Given the description of an element on the screen output the (x, y) to click on. 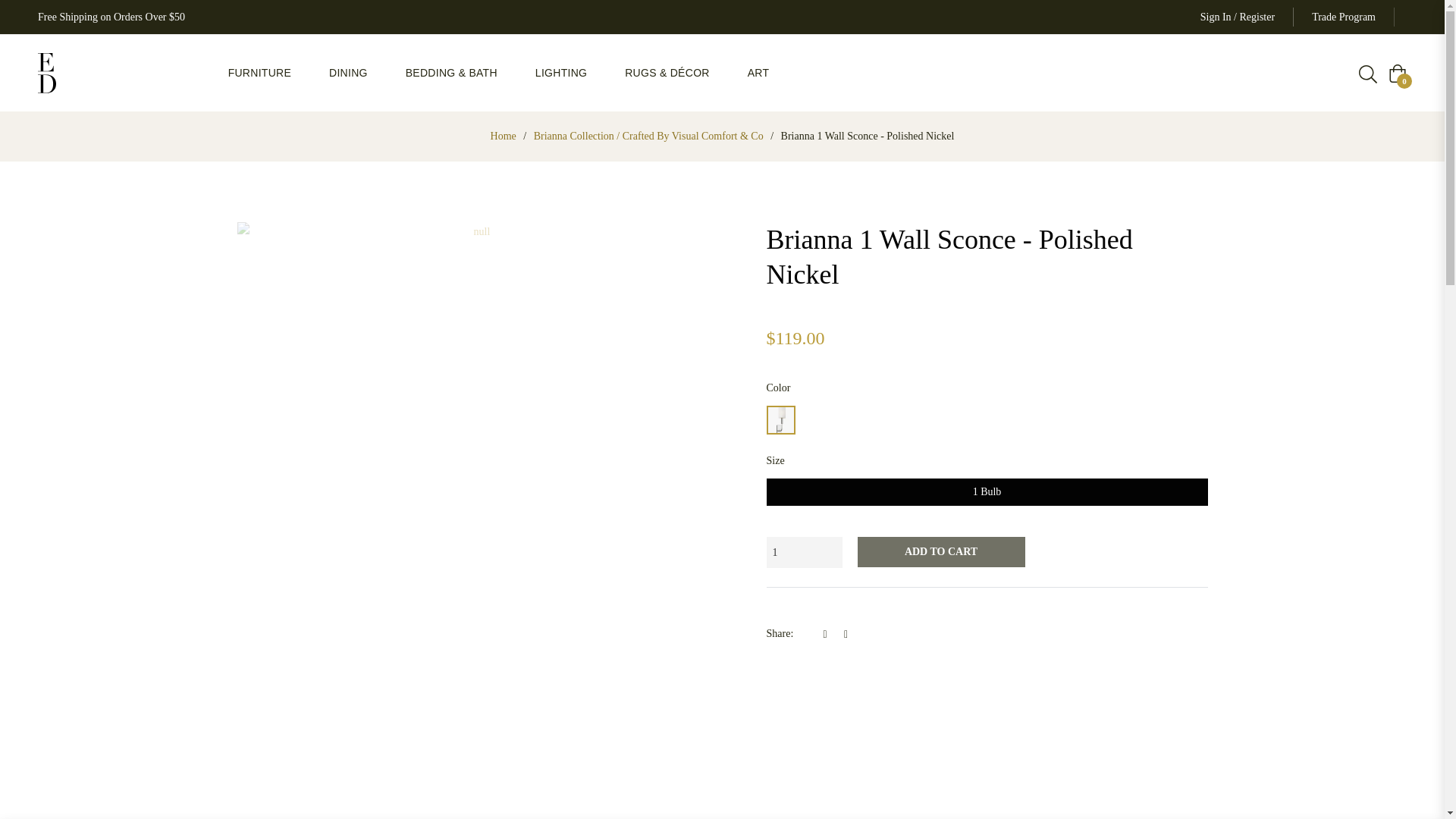
Home (502, 136)
Shopping Cart (1397, 73)
Register (1257, 17)
Pin on Pinterest (849, 633)
Polished Nickel (779, 419)
Sign In (1215, 17)
DINING (348, 73)
LIGHTING (560, 73)
